Given the description of an element on the screen output the (x, y) to click on. 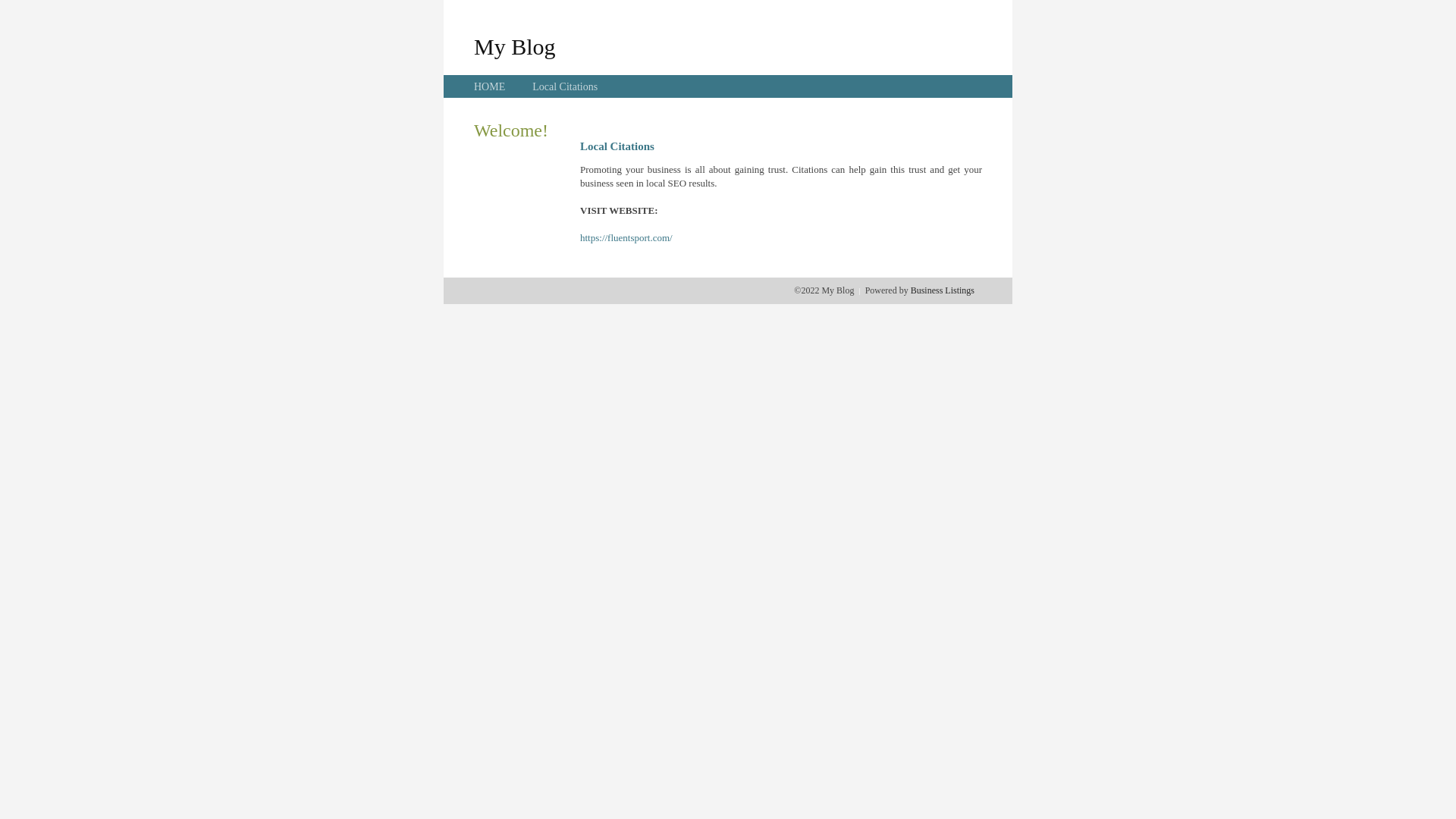
HOME Element type: text (489, 86)
My Blog Element type: text (514, 46)
Local Citations Element type: text (564, 86)
Business Listings Element type: text (942, 290)
https://fluentsport.com/ Element type: text (626, 237)
